Given the description of an element on the screen output the (x, y) to click on. 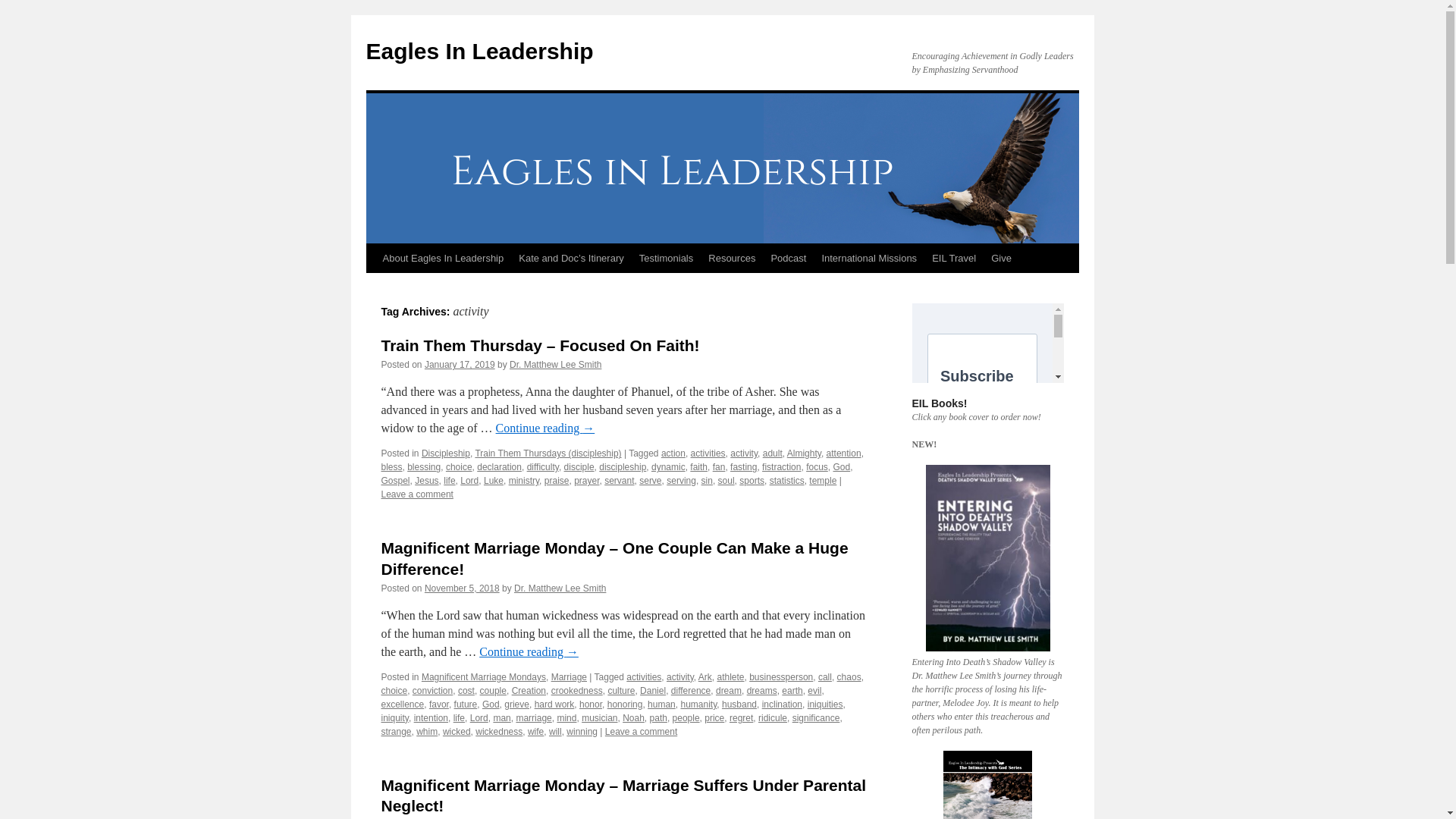
International Missions (868, 258)
View all posts by Dr. Matthew Lee Smith (559, 588)
Discipleship (446, 452)
activities (707, 452)
Resources (731, 258)
3:00 am (460, 364)
View all posts by Dr. Matthew Lee Smith (555, 364)
EIL Travel (954, 258)
Podcast (787, 258)
Give (1001, 258)
